Given the description of an element on the screen output the (x, y) to click on. 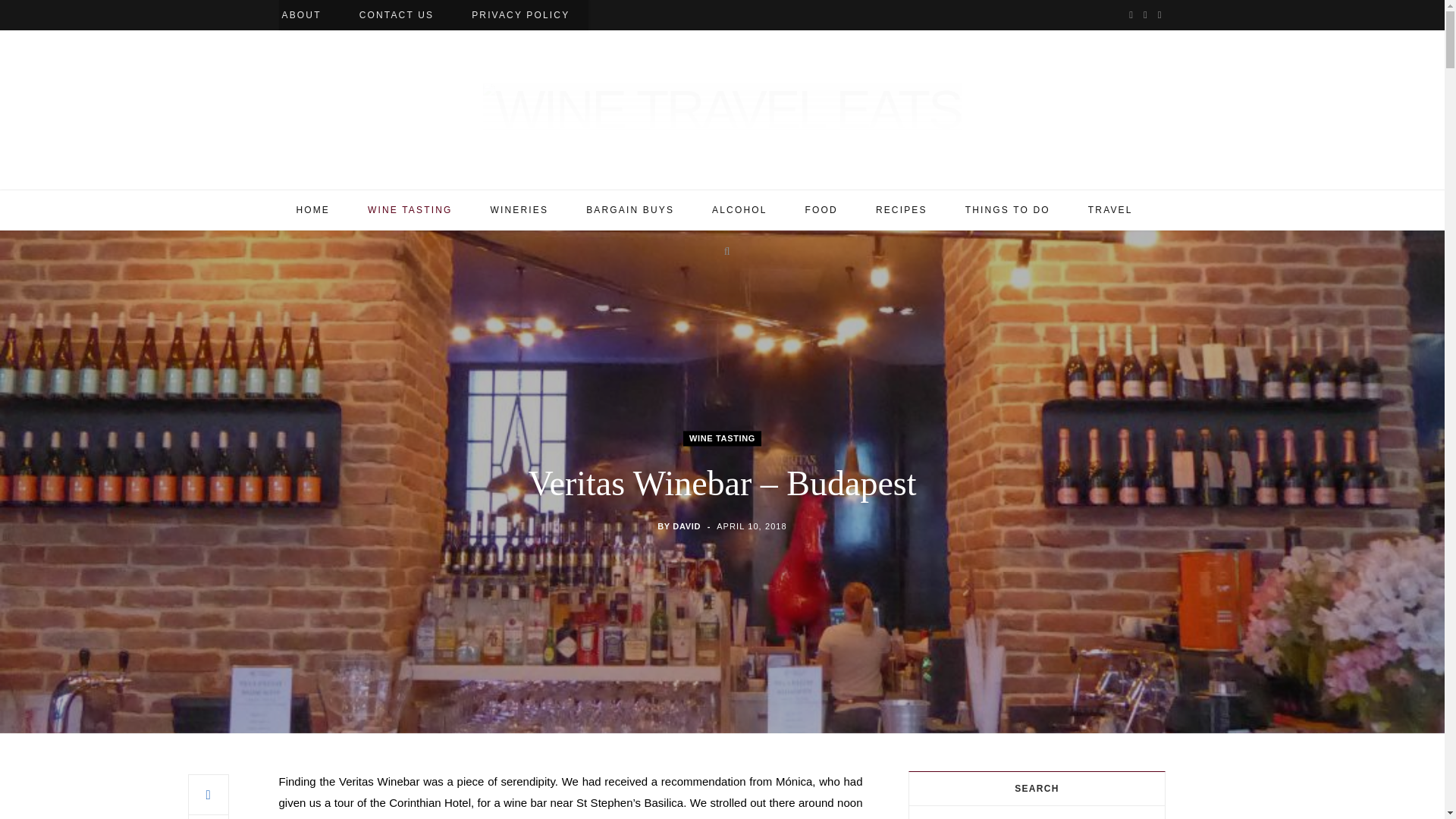
THINGS TO DO (1007, 209)
PRIVACY POLICY (520, 15)
Posts by David (686, 526)
WINE TASTING (721, 437)
Share on Twitter (207, 816)
RECIPES (901, 209)
WINE TASTING (409, 209)
ABOUT (300, 15)
ALCOHOL (739, 209)
WINERIES (519, 209)
